Given the description of an element on the screen output the (x, y) to click on. 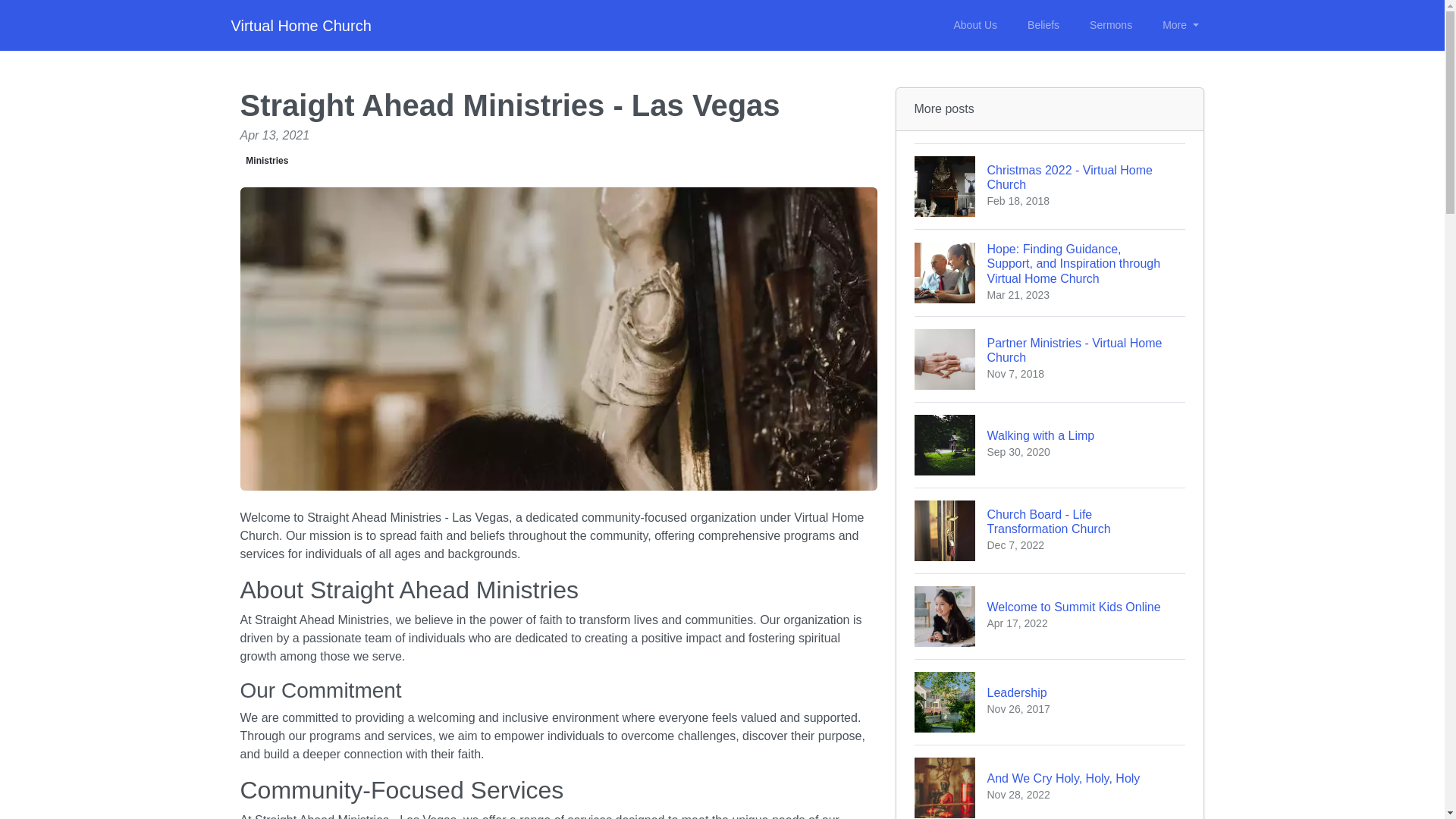
Ministries (267, 160)
About Us (1050, 186)
More (974, 25)
Beliefs (1180, 25)
